Given the description of an element on the screen output the (x, y) to click on. 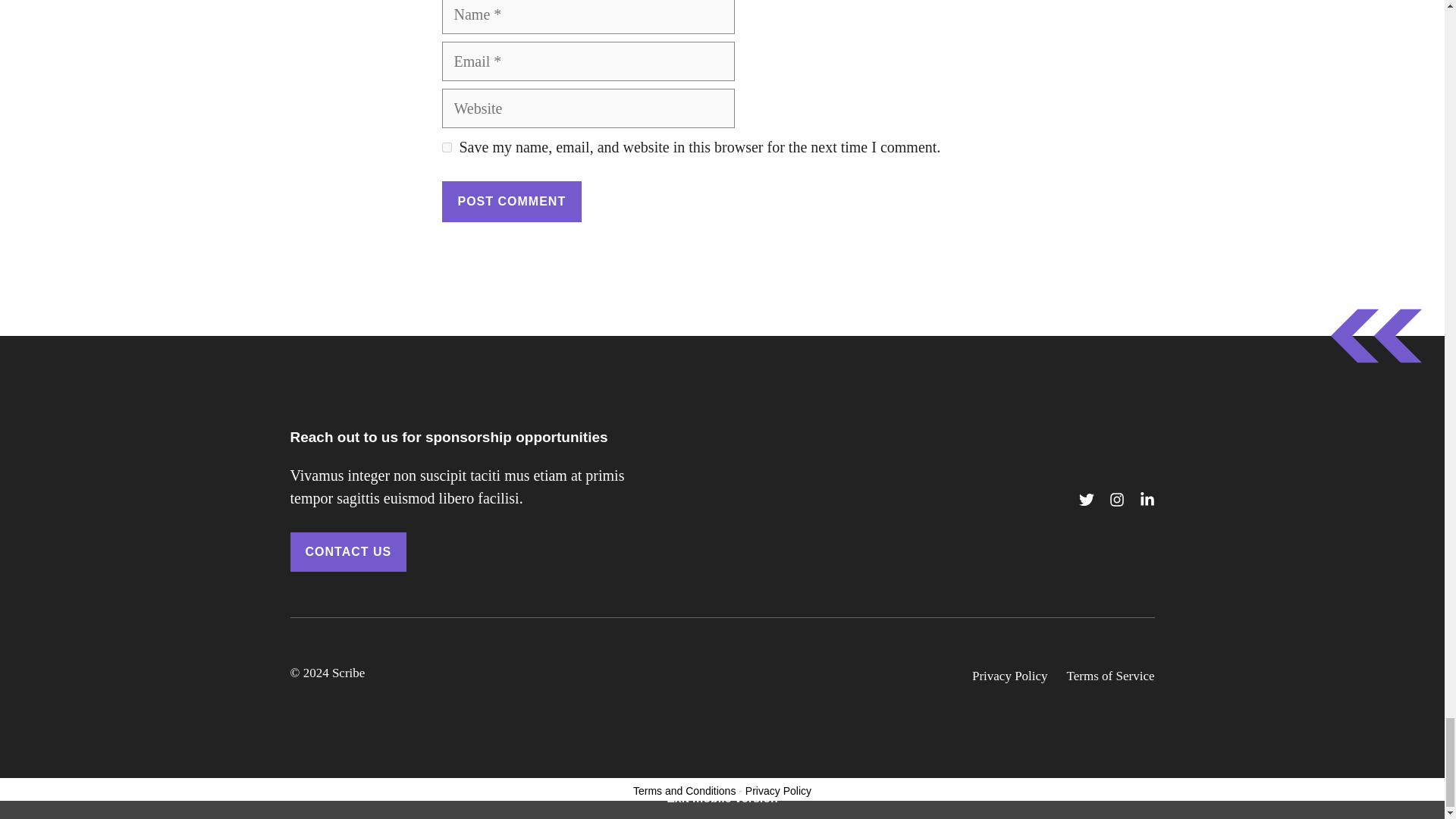
CONTACT US (347, 551)
yes (446, 147)
Privacy Policy (777, 790)
Terms of Service (1110, 676)
Post Comment (510, 200)
Privacy Policy (1010, 676)
Post Comment (510, 200)
Terms and Conditions (684, 790)
